Given the description of an element on the screen output the (x, y) to click on. 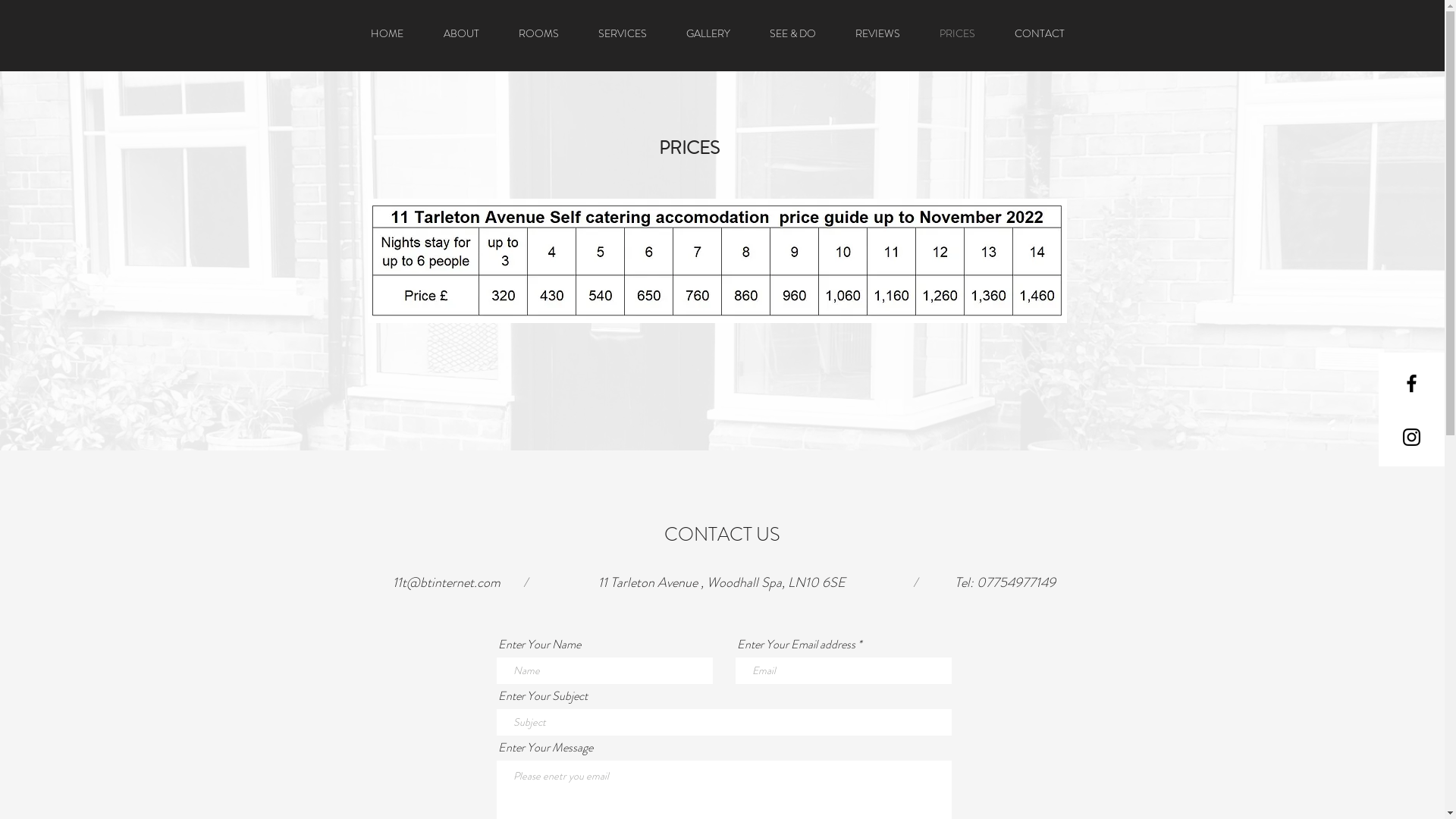
HOME Element type: text (386, 33)
11t@btinternet.com Element type: text (446, 582)
SEE & DO Element type: text (791, 33)
PRICES Element type: text (956, 33)
CONTACT Element type: text (1039, 33)
Prices 2022.JPG Element type: hover (716, 260)
SERVICES Element type: text (621, 33)
ROOMS Element type: text (538, 33)
GALLERY Element type: text (707, 33)
REVIEWS Element type: text (877, 33)
ABOUT Element type: text (460, 33)
